Given the description of an element on the screen output the (x, y) to click on. 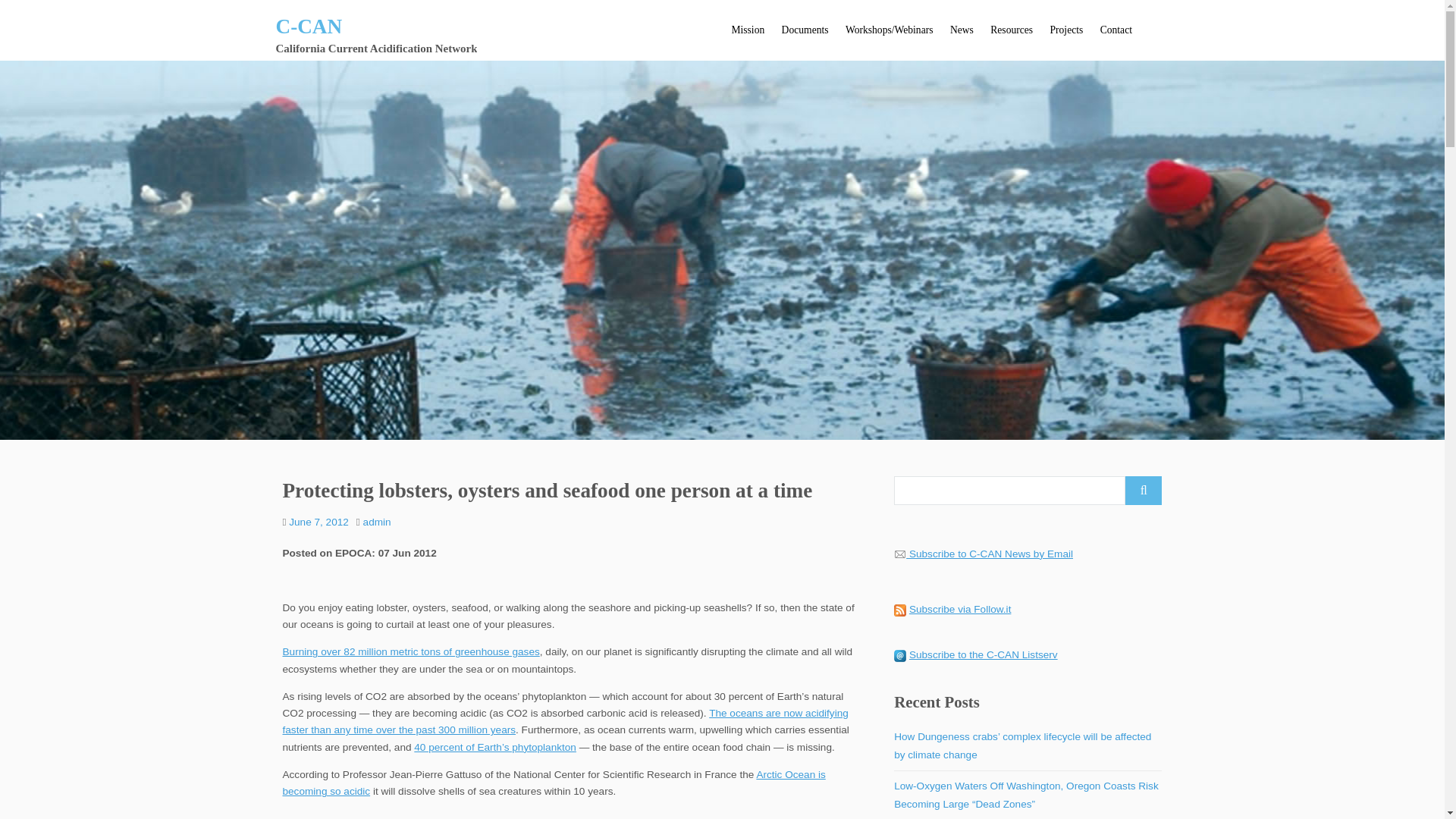
Burning over 82 million metric tons of greenhouse gases (410, 651)
June 7, 2012 (318, 521)
C-CAN (309, 26)
C-CAN (309, 26)
Resources (1011, 30)
Documents (804, 30)
admin (376, 521)
Arctic Ocean is becoming so acidic (553, 782)
